Given the description of an element on the screen output the (x, y) to click on. 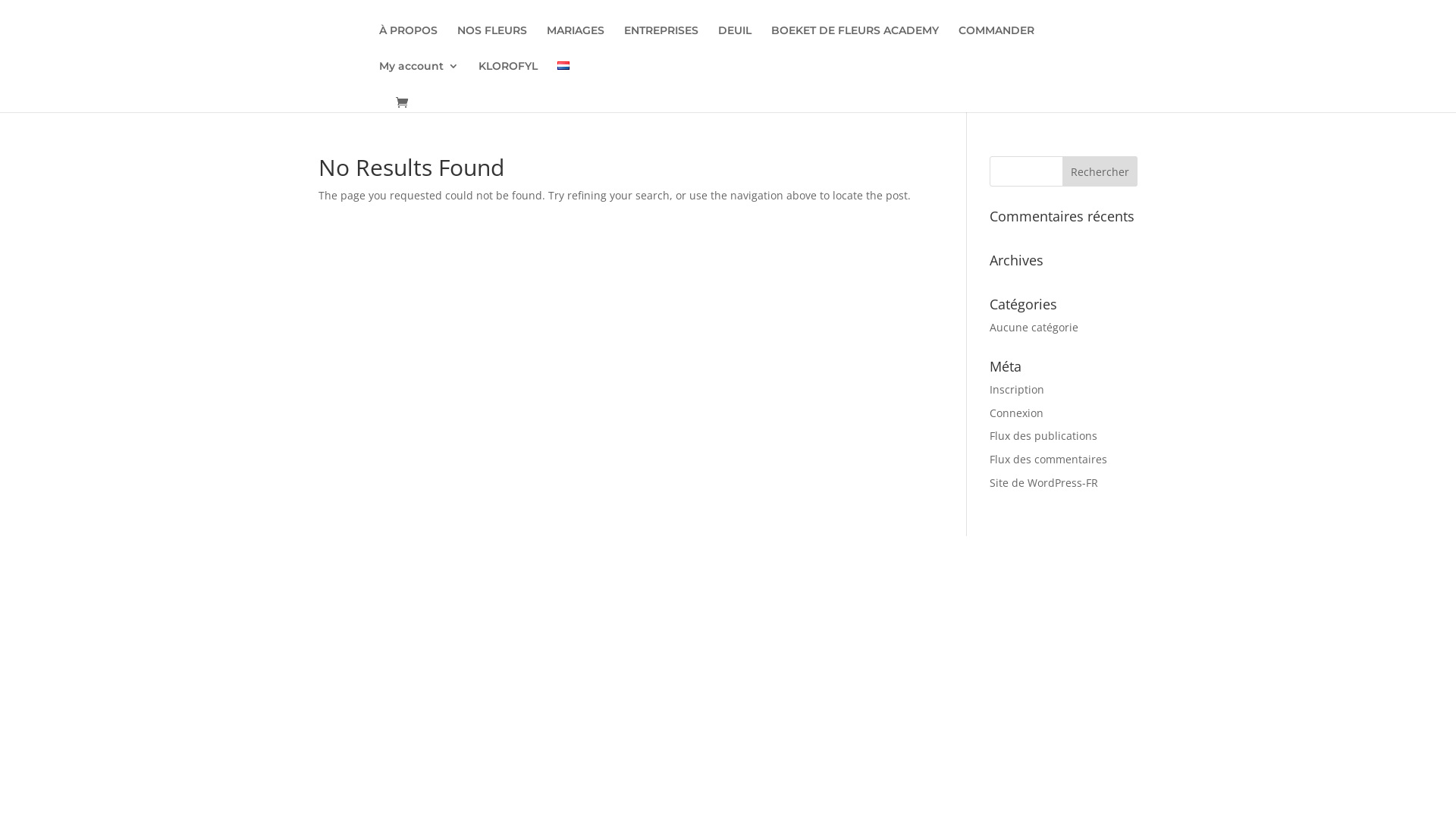
Connexion Element type: text (1016, 412)
MARIAGES Element type: text (575, 42)
Site de WordPress-FR Element type: text (1043, 482)
KLOROFYL Element type: text (507, 78)
Flux des publications Element type: text (1043, 435)
NOS FLEURS Element type: text (492, 42)
Rechercher Element type: text (1099, 171)
COMMANDER Element type: text (996, 42)
DEUIL Element type: text (734, 42)
BOEKET DE FLEURS ACADEMY Element type: text (854, 42)
Flux des commentaires Element type: text (1048, 458)
ENTREPRISES Element type: text (661, 42)
My account Element type: text (418, 78)
Inscription Element type: text (1016, 389)
